Given the description of an element on the screen output the (x, y) to click on. 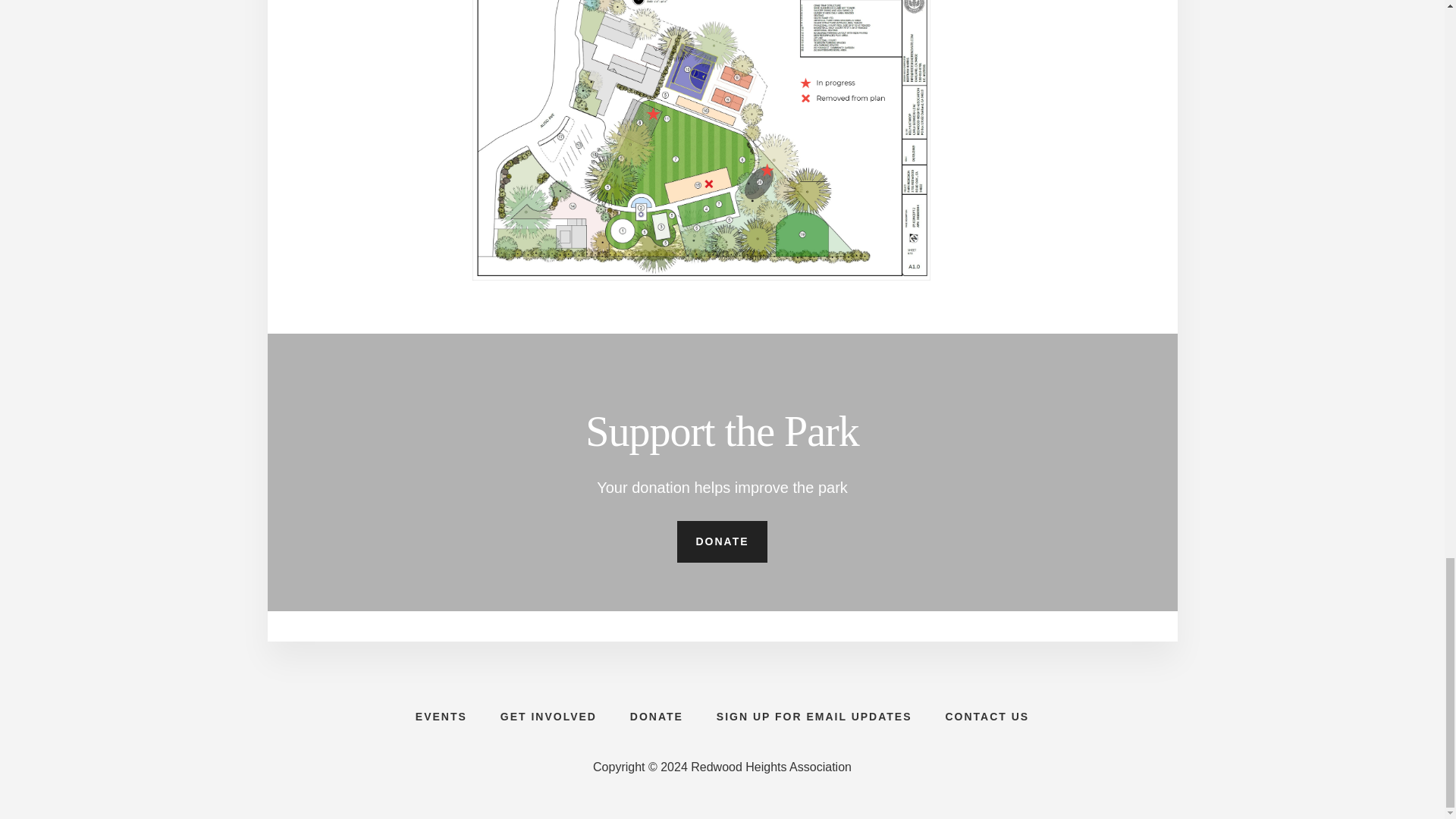
DONATE (722, 541)
CONTACT US (986, 716)
GET INVOLVED (547, 716)
SIGN UP FOR EMAIL UPDATES (814, 716)
EVENTS (440, 716)
DONATE (656, 716)
